Given the description of an element on the screen output the (x, y) to click on. 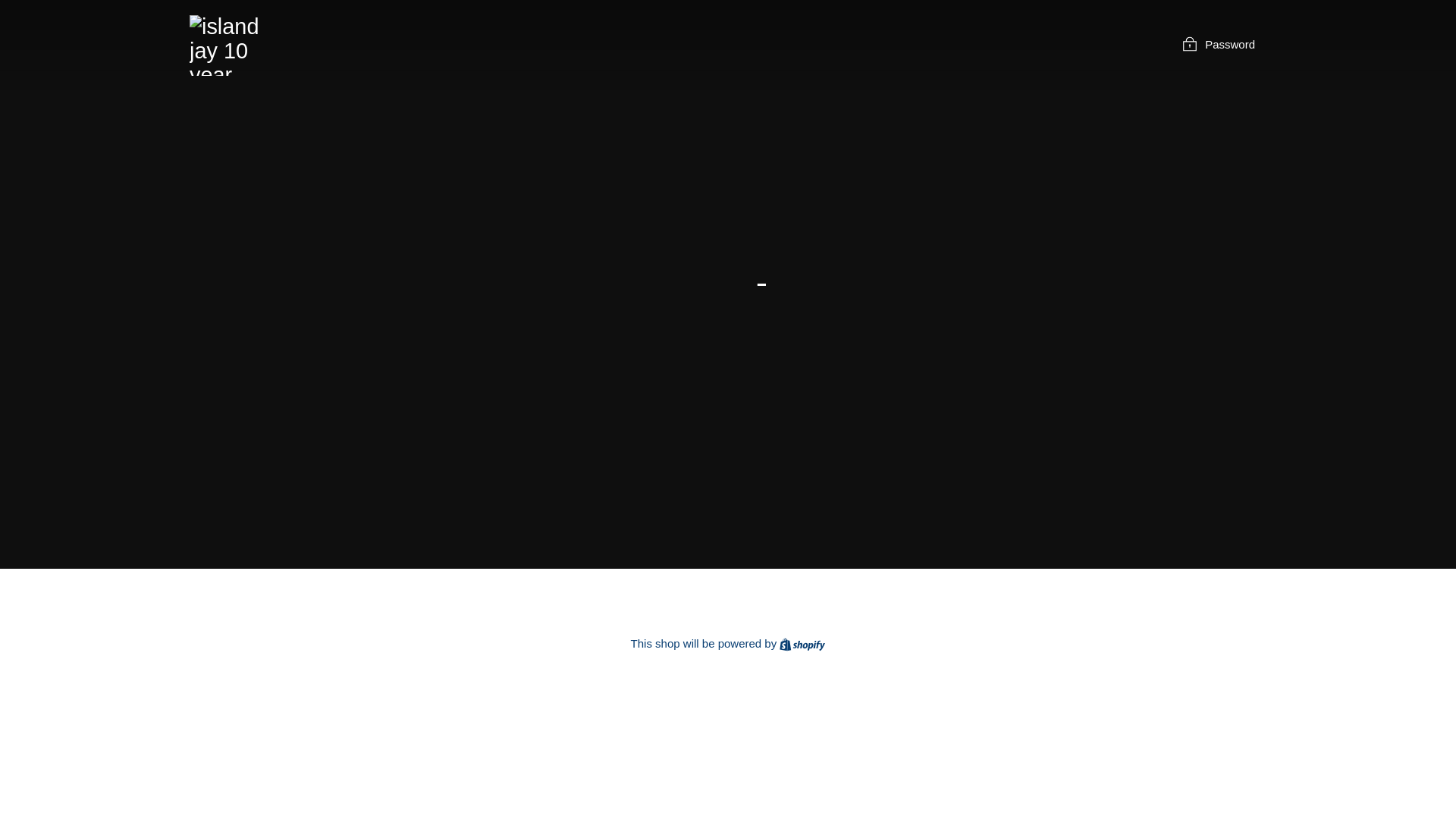
Create your own online store with Shopify (801, 643)
Shopify logo (801, 644)
Password (1217, 44)
